Given the description of an element on the screen output the (x, y) to click on. 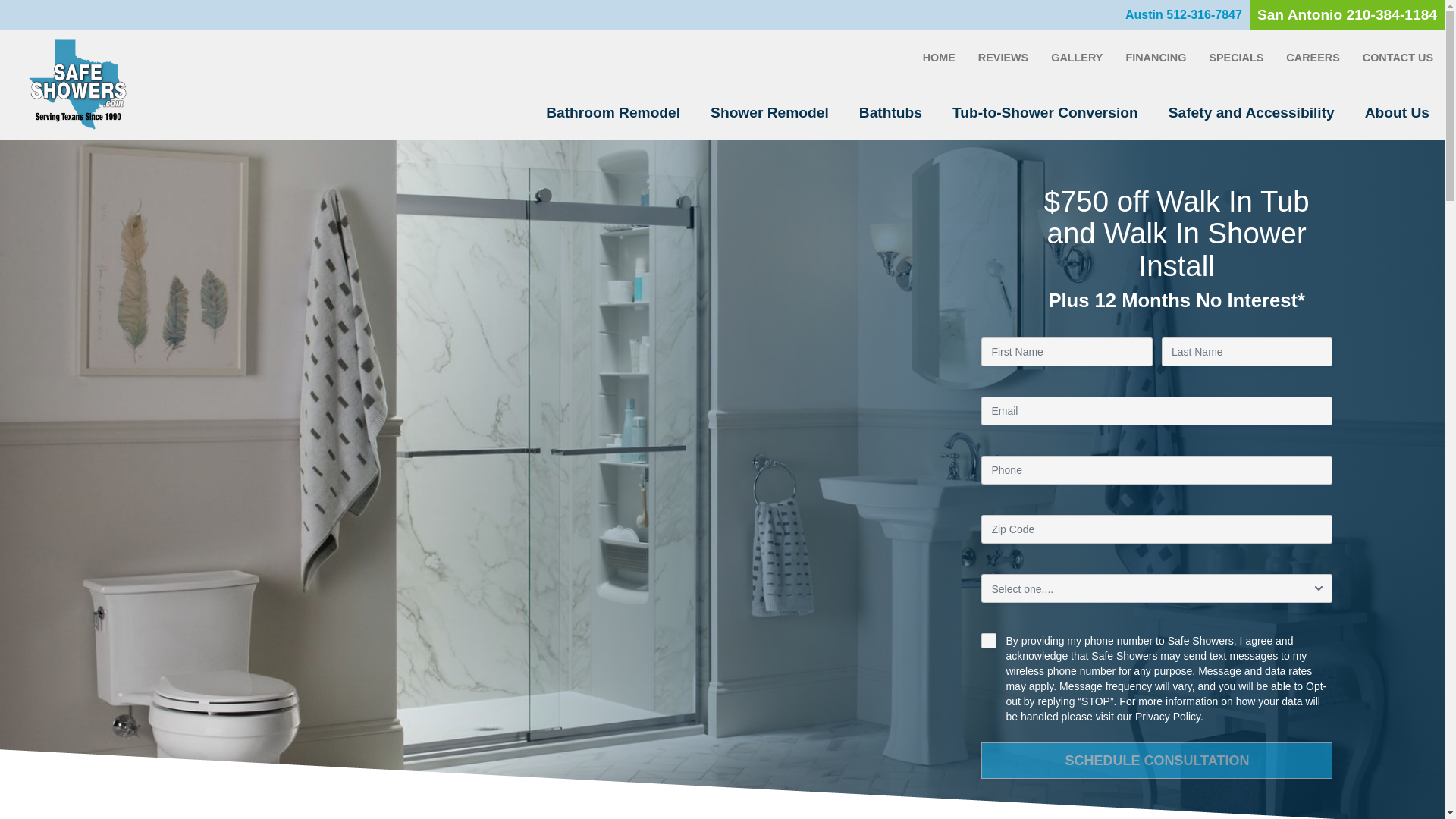
Safety and Accessibility (1251, 112)
Bathroom Remodel (613, 112)
GALLERY (1076, 57)
Schedule Consultation (1156, 760)
Schedule Consultation (1156, 760)
Privacy Policy (1167, 716)
Tub-to-Shower Conversion (1045, 112)
Safe Showers (77, 83)
Bathtubs (890, 112)
1 (988, 640)
CAREERS (1313, 57)
FINANCING (1154, 57)
Shower Remodel (769, 112)
HOME (938, 57)
SPECIALS (1235, 57)
